Given the description of an element on the screen output the (x, y) to click on. 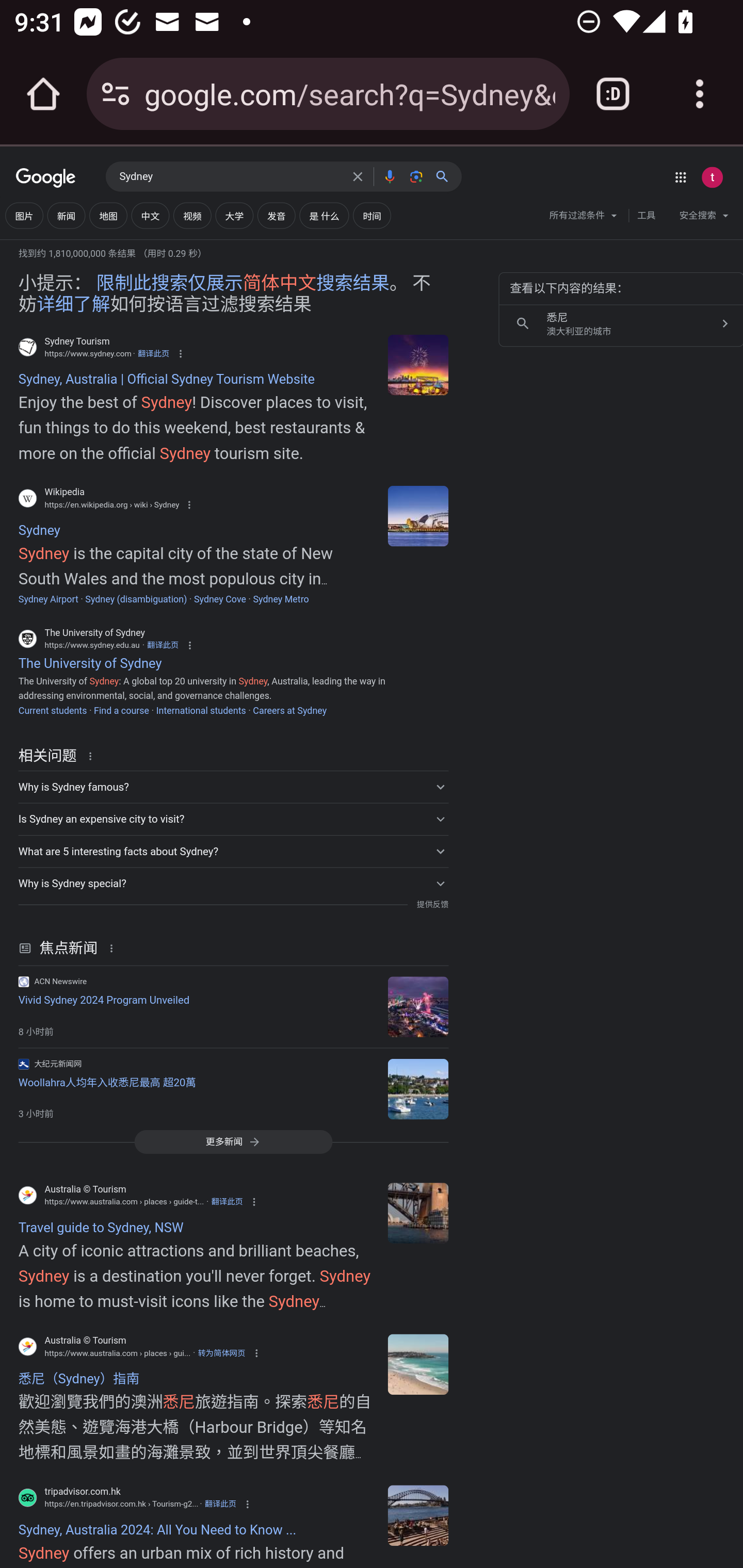
Open the home page (43, 93)
Connection is secure (115, 93)
Switch or close tabs (612, 93)
Customize and control Google Chrome (699, 93)
清除 (357, 176)
按语音搜索 (389, 176)
按图搜索 (415, 176)
搜索 (446, 176)
Google 应用 (680, 176)
Google 账号： test appium (testappium002@gmail.com) (712, 176)
Google (45, 178)
Sydney (229, 177)
图片 (24, 215)
新闻 (65, 215)
地图 (107, 215)
添加“中文” 中文 (149, 215)
视频 (191, 215)
添加“大学” 大学 (234, 215)
添加“发音” 发音 (276, 215)
添加“是 什么” 是 什么 (324, 215)
添加“时间” 时间 (371, 215)
所有过滤条件 (583, 217)
工具 (646, 215)
安全搜索 (703, 217)
限制此搜索仅展示简体中文搜索结果 限制此搜索仅展示 简体中文 搜索结果 (242, 283)
详细了解 (73, 304)
www.sydney (417, 364)
翻译此页 (152, 353)
Sydney (417, 514)
Sydney Airport (47, 598)
Sydney (disambiguation) (135, 598)
Sydney Cove (219, 598)
Sydney Metro (280, 598)
翻译此页 (162, 644)
Current students (51, 710)
Find a course (121, 710)
International students (200, 710)
Careers at Sydney (289, 710)
关于这条结果的详细信息 (93, 754)
Why is Sydney famous? (232, 785)
Is Sydney an expensive city to visit? (232, 818)
What are 5 interesting facts about Sydney? (232, 851)
Why is Sydney special? (232, 883)
提供反馈 (432, 904)
关于这条结果的详细信息 (114, 947)
更多新闻 (232, 1141)
guide-to-sydney (417, 1212)
翻译此页 (226, 1201)
guide-to-sydney (417, 1364)
转为简体网页 (220, 1352)
Tourism-g255060-Sydney_New_South_Wales-Vacations (417, 1515)
翻译此页 (220, 1503)
